Given the description of an element on the screen output the (x, y) to click on. 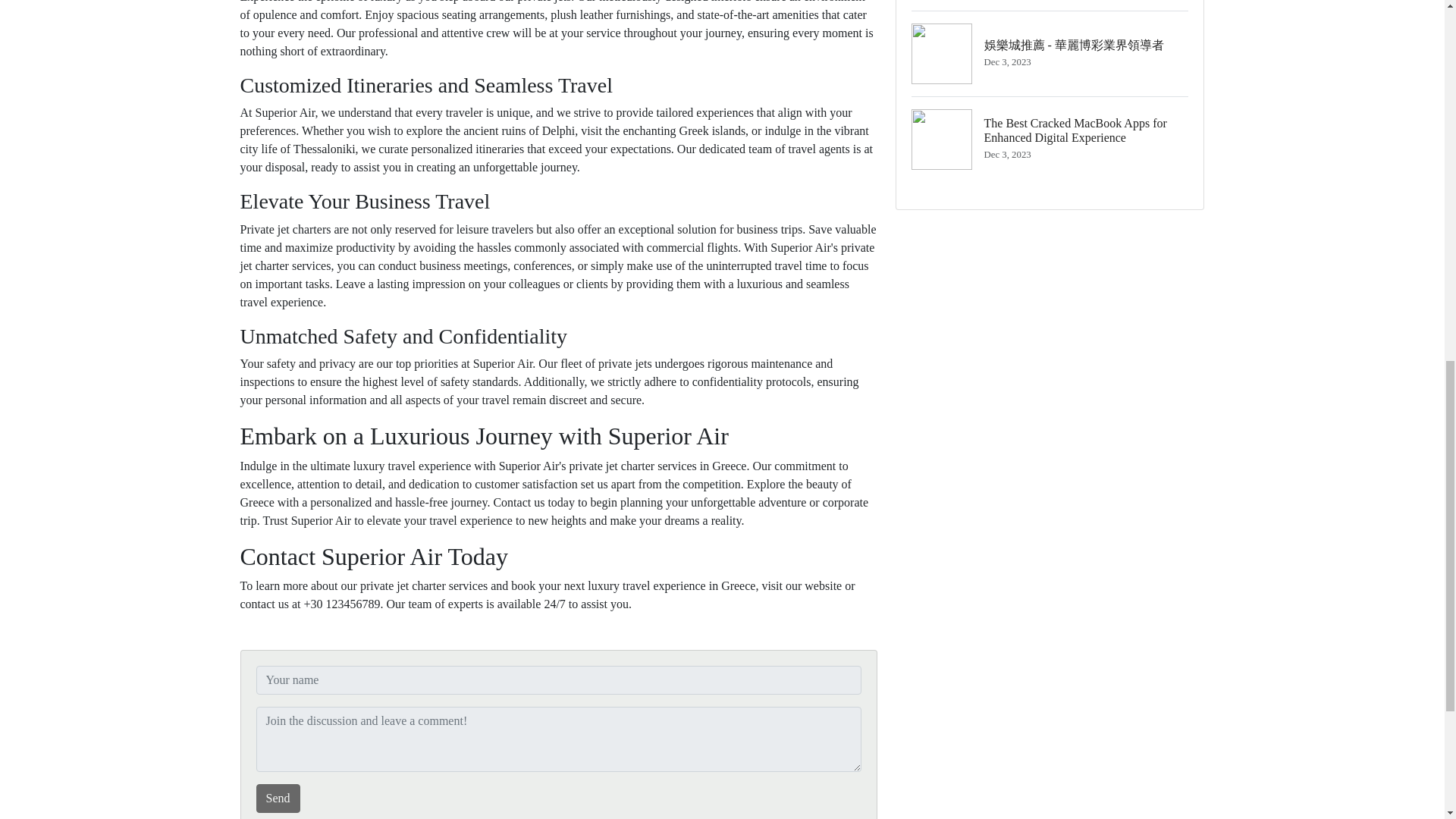
Send (277, 798)
Send (277, 798)
